Given the description of an element on the screen output the (x, y) to click on. 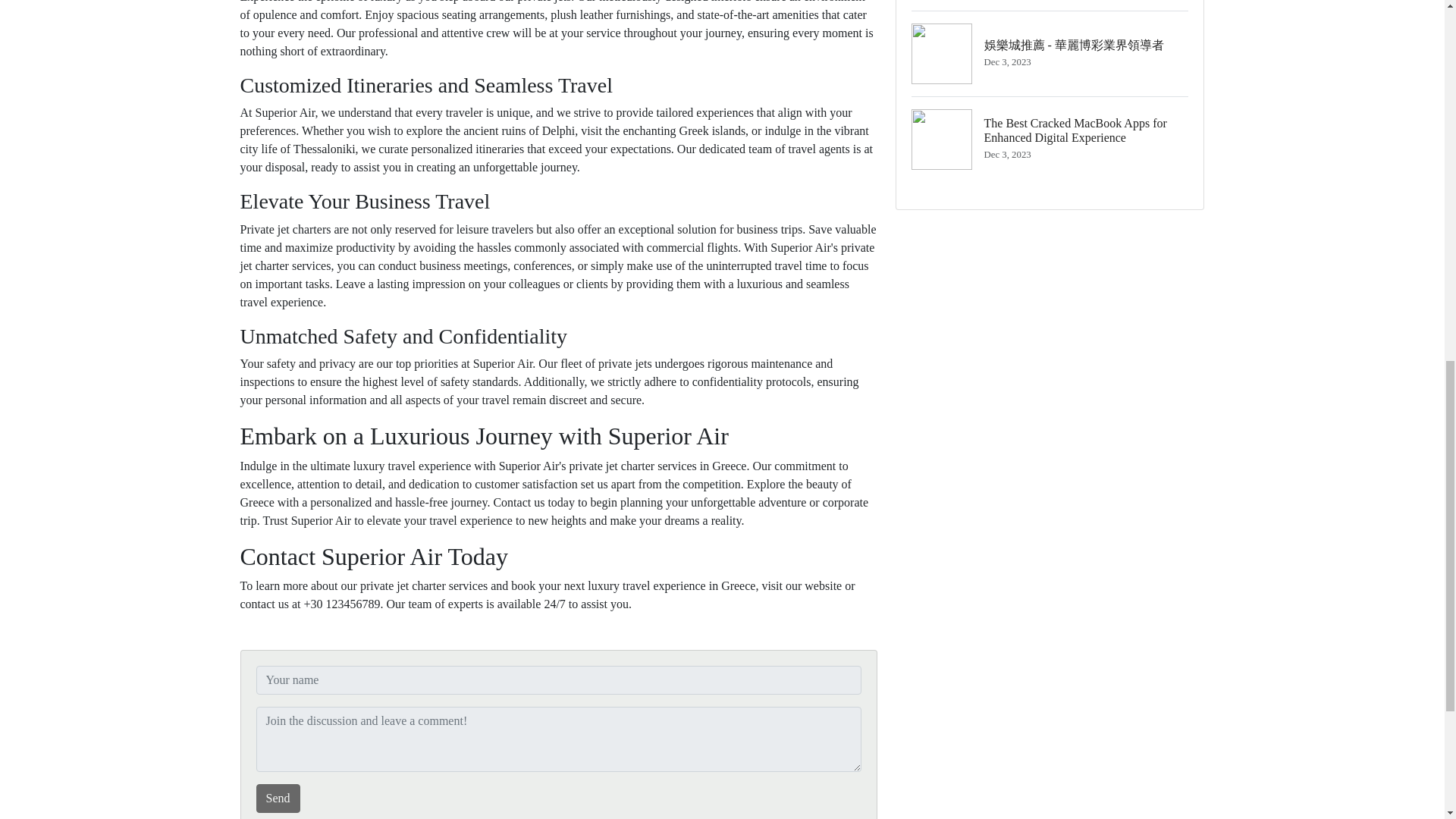
Send (277, 798)
Send (277, 798)
